Given the description of an element on the screen output the (x, y) to click on. 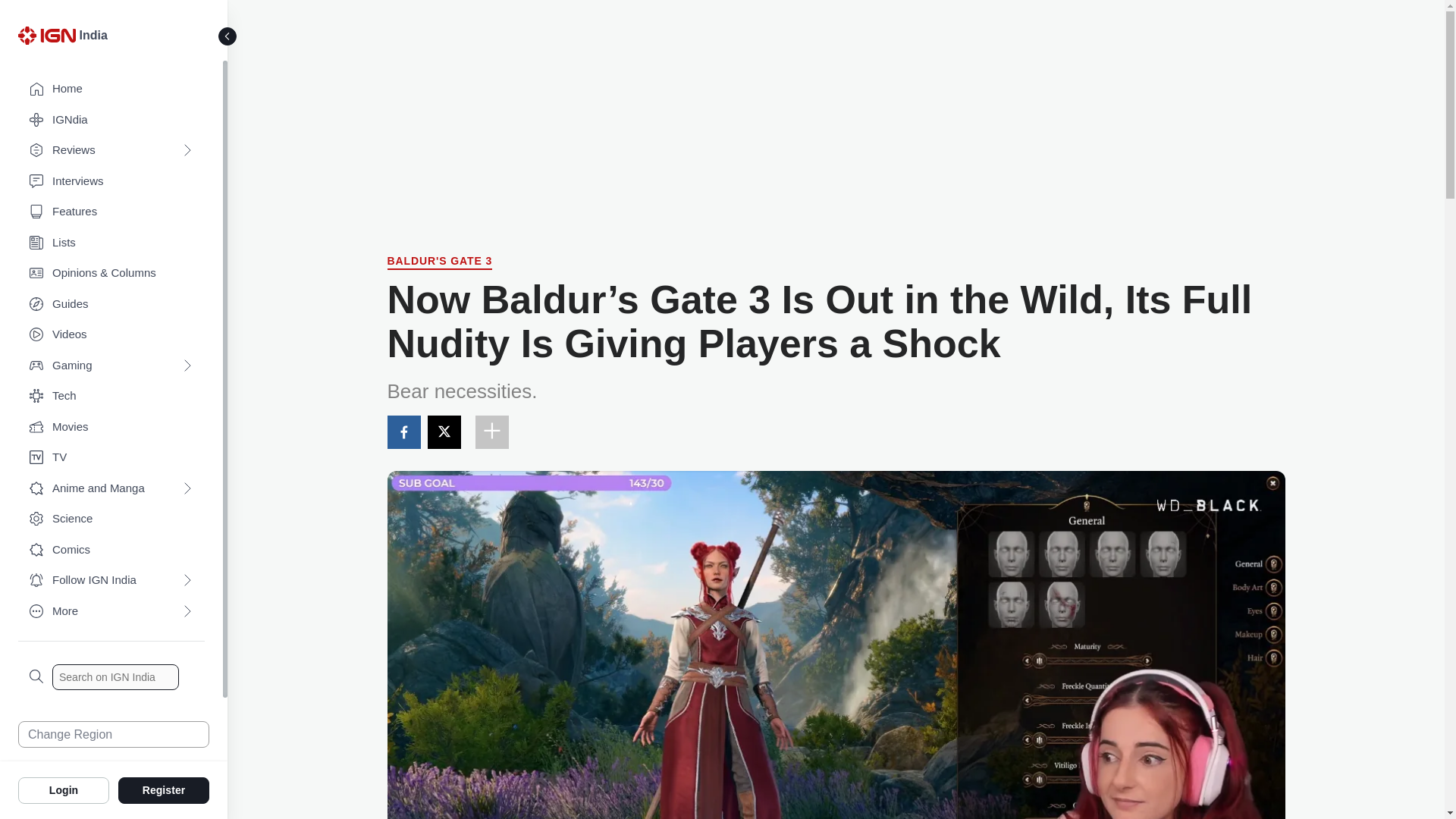
Science (111, 518)
IGN Logo (46, 34)
Movies (111, 427)
Lists (111, 242)
Toggle Sidebar (226, 36)
Features (111, 211)
Interviews (111, 181)
Baldur's Gate 3 (439, 262)
Reviews (111, 150)
Home (111, 89)
Guides (111, 304)
IGNdia (111, 119)
More (111, 610)
Tech (111, 396)
Videos (111, 334)
